Given the description of an element on the screen output the (x, y) to click on. 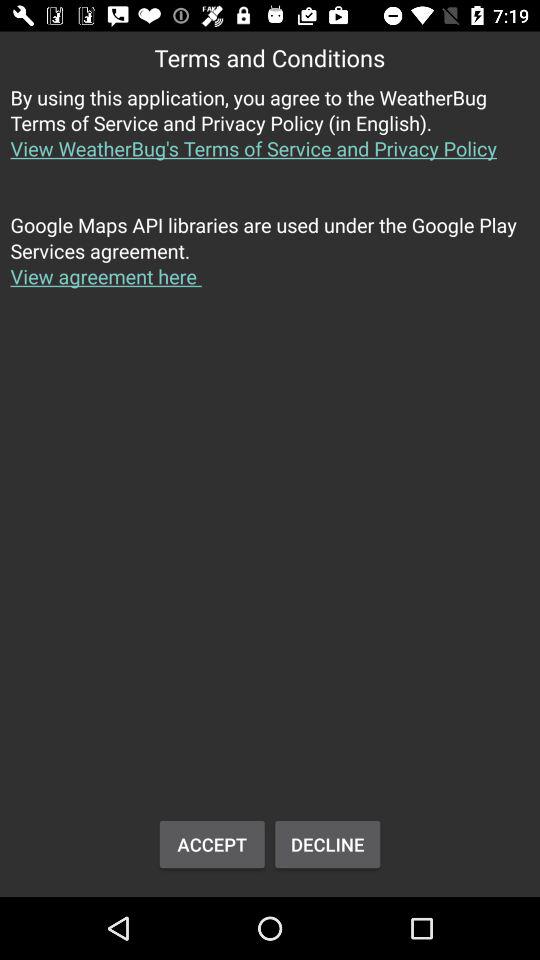
turn off button to the left of the decline icon (212, 844)
